Given the description of an element on the screen output the (x, y) to click on. 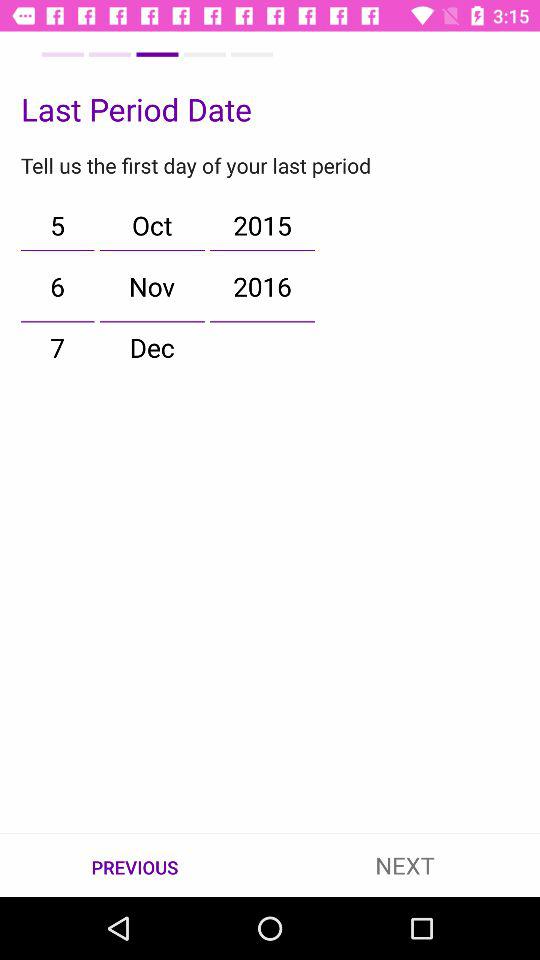
tap the icon next to previous icon (405, 864)
